Given the description of an element on the screen output the (x, y) to click on. 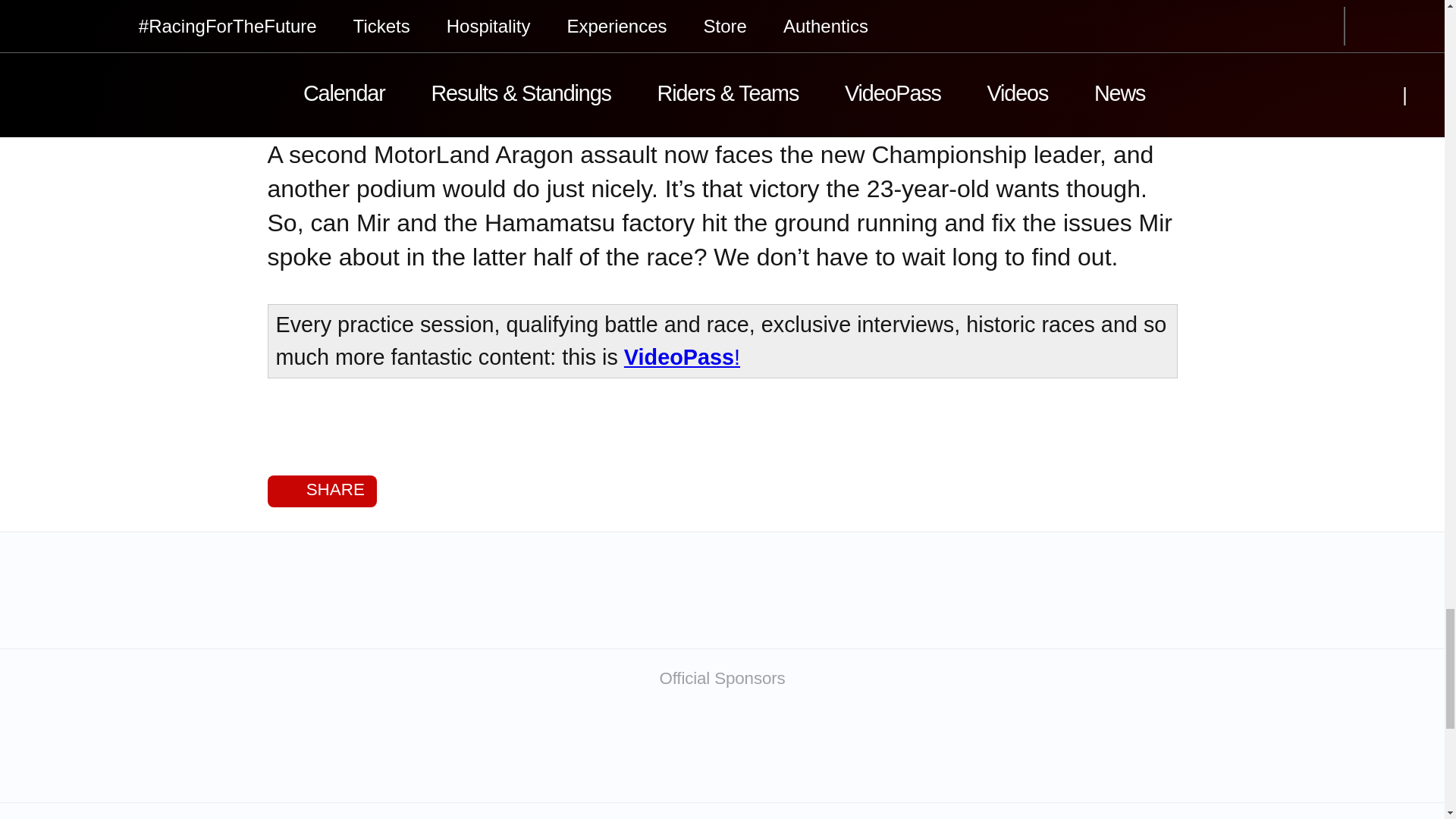
TISSOT (481, 749)
QATAR (321, 749)
BMW M (802, 749)
ESTRELLA GALICIA (962, 749)
MICHELIN (642, 749)
DHL (1122, 749)
